Given the description of an element on the screen output the (x, y) to click on. 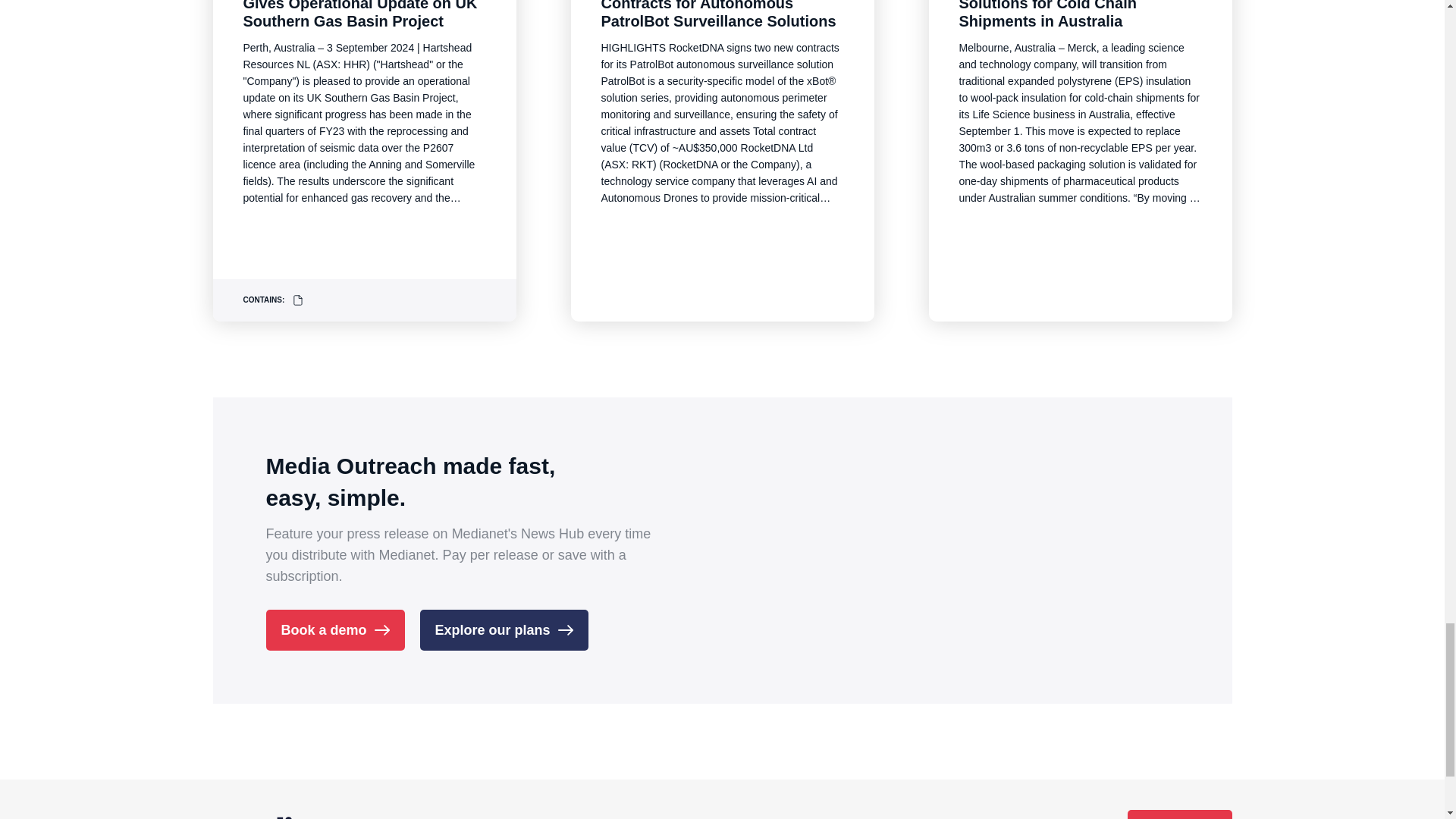
Book a demo (334, 629)
Explore our plans (504, 629)
Attachments (298, 300)
Back to main site (480, 814)
News Hub (294, 814)
Get Started (1178, 814)
